Given the description of an element on the screen output the (x, y) to click on. 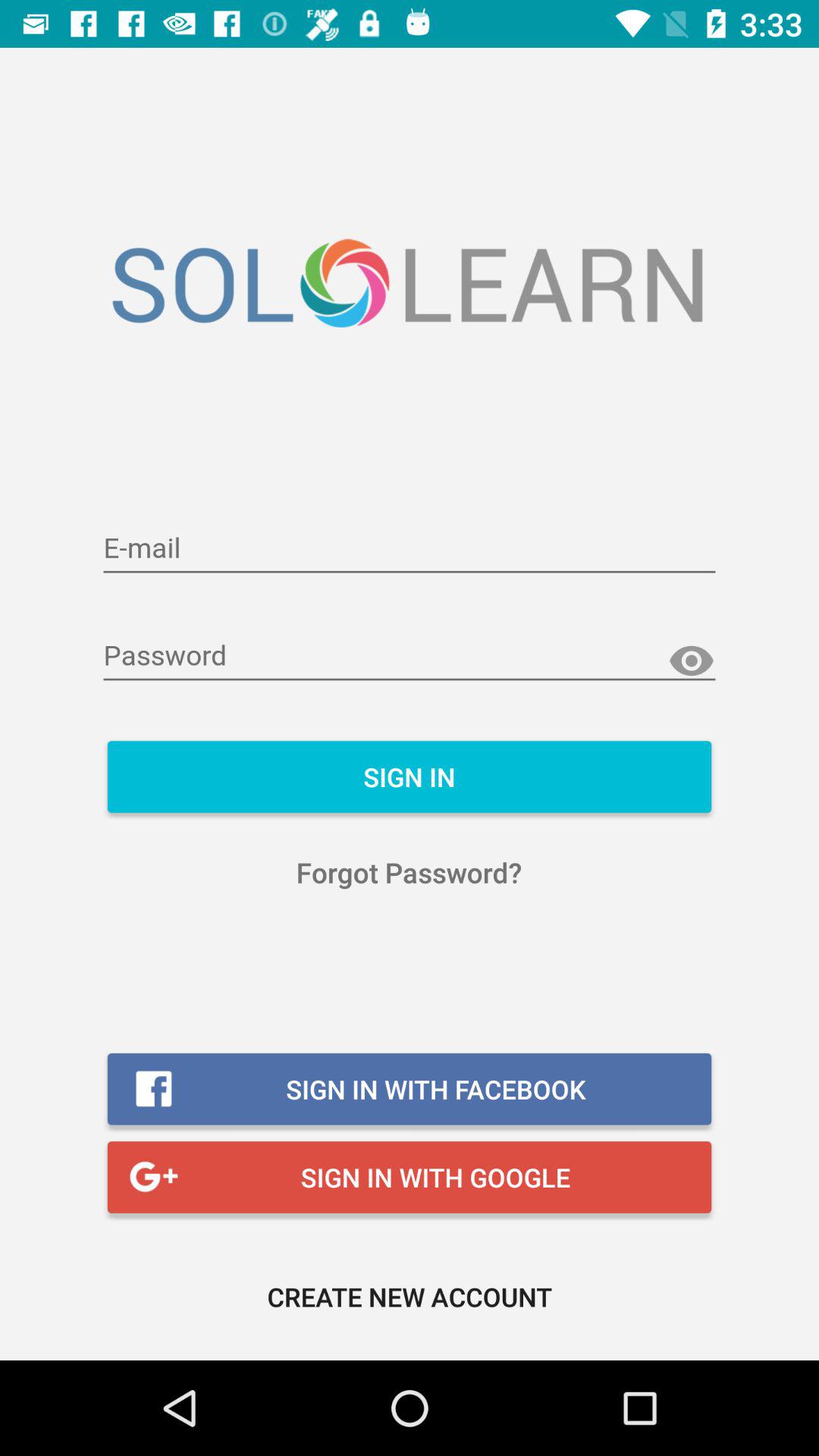
show the password (691, 661)
